Given the description of an element on the screen output the (x, y) to click on. 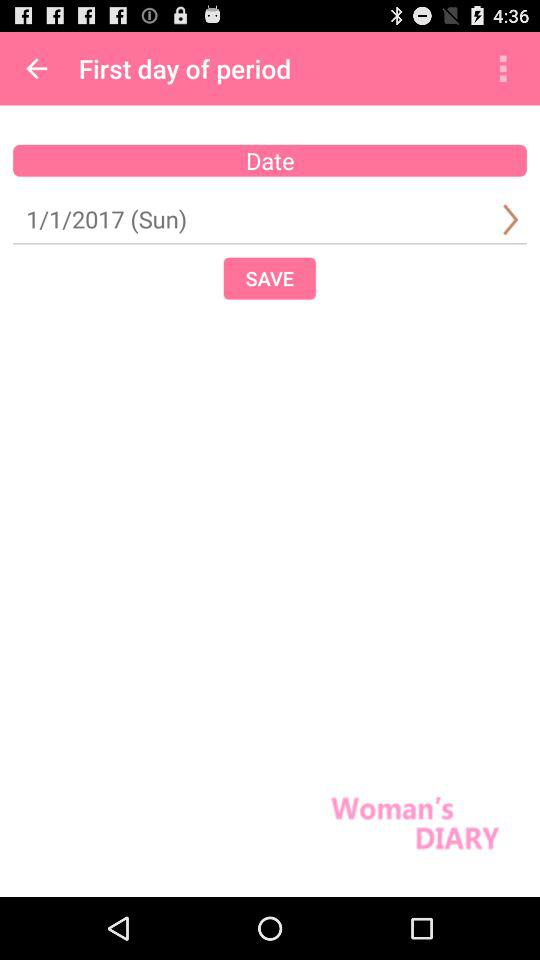
click item next to first day of (36, 68)
